Given the description of an element on the screen output the (x, y) to click on. 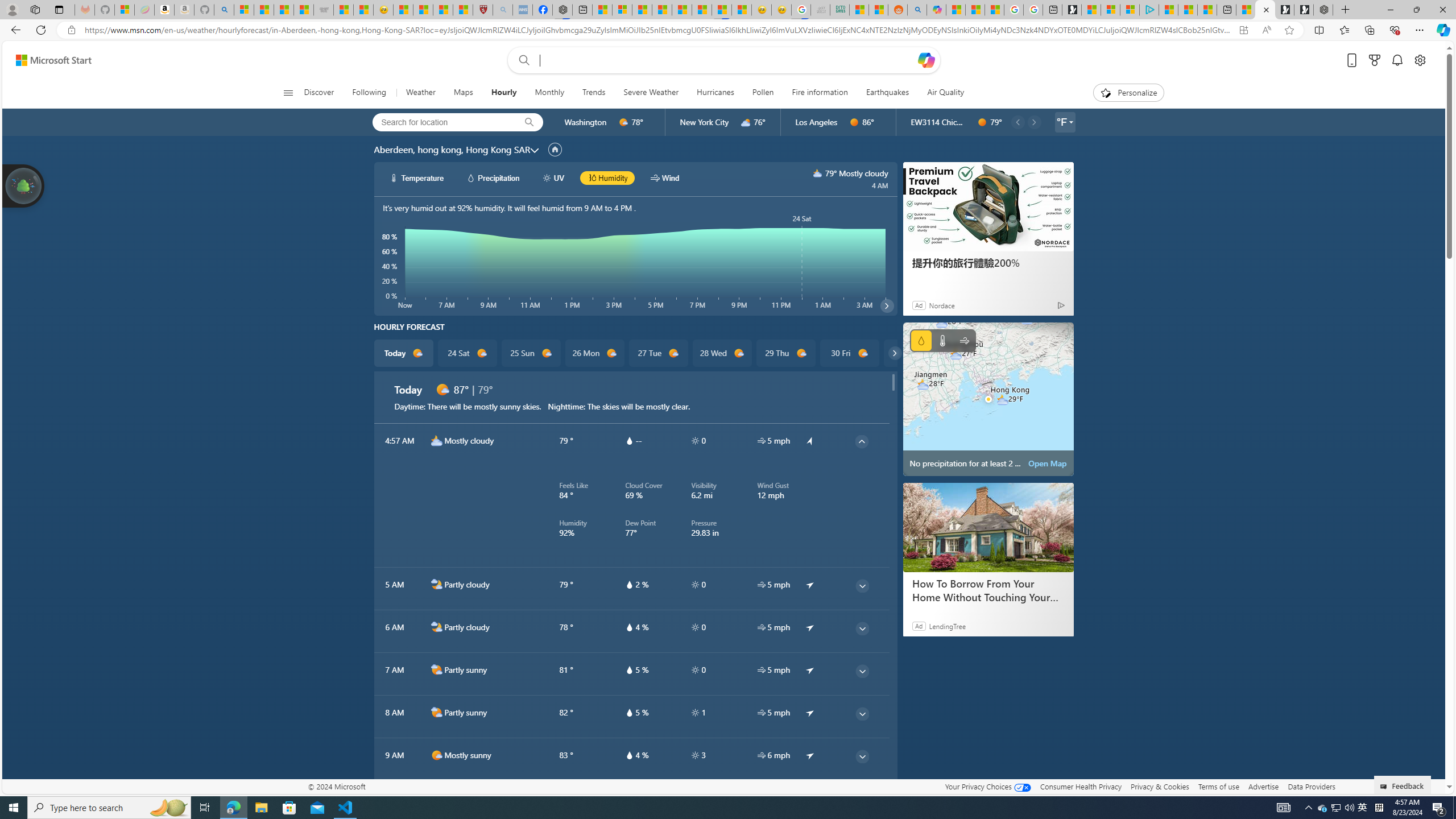
Air Quality (940, 92)
Class: miniMapRadarSVGView-DS-EntryPoint1-1 (988, 398)
Precipitation (920, 340)
12 Popular Science Lies that Must be Corrected (462, 9)
Monthly (549, 92)
Data Providers (1311, 785)
hourlyChart/temperatureWhite (394, 177)
